Given the description of an element on the screen output the (x, y) to click on. 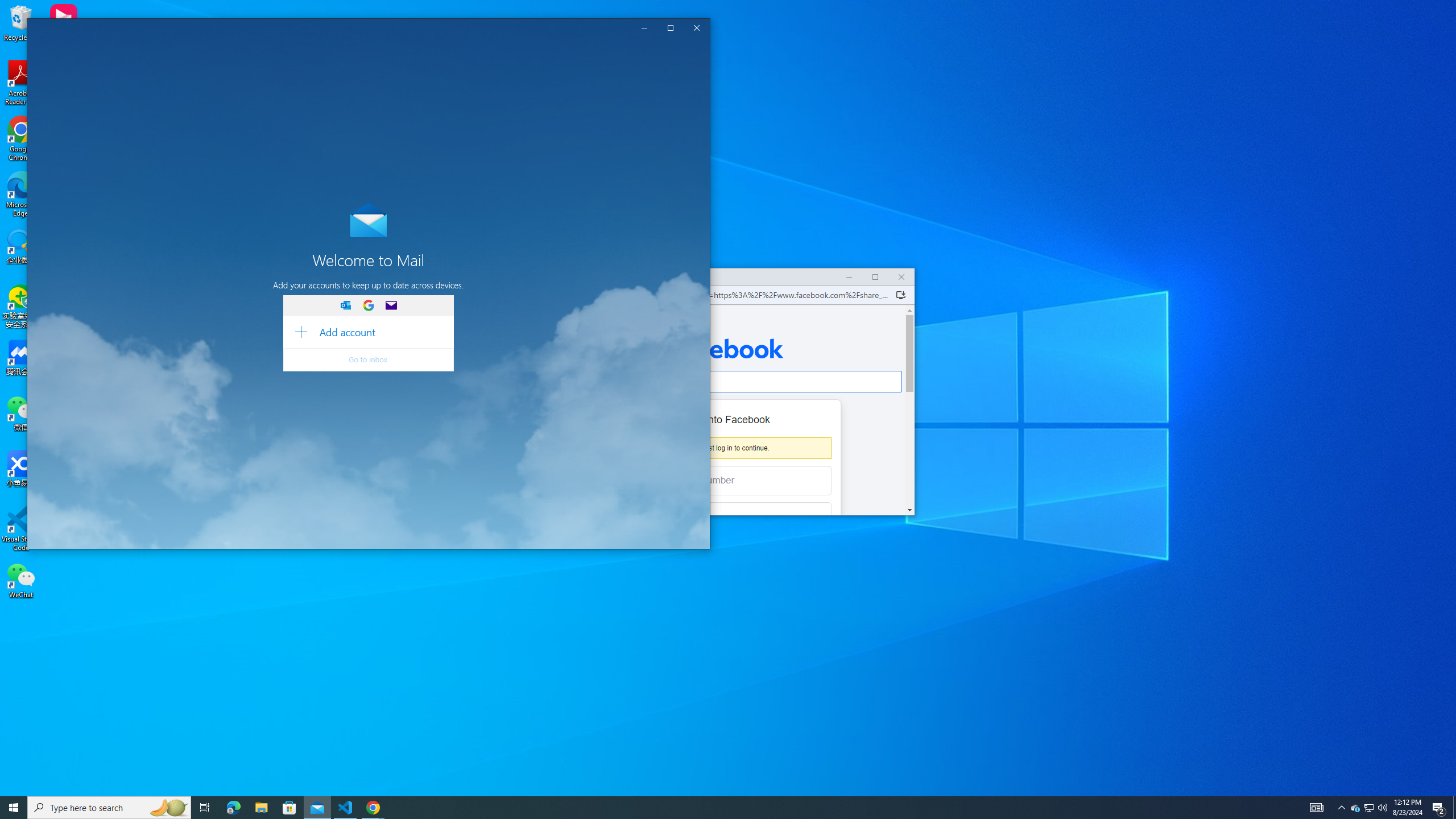
Submit search (323, 82)
Start (13, 807)
Dismiss (679, 50)
